Given the description of an element on the screen output the (x, y) to click on. 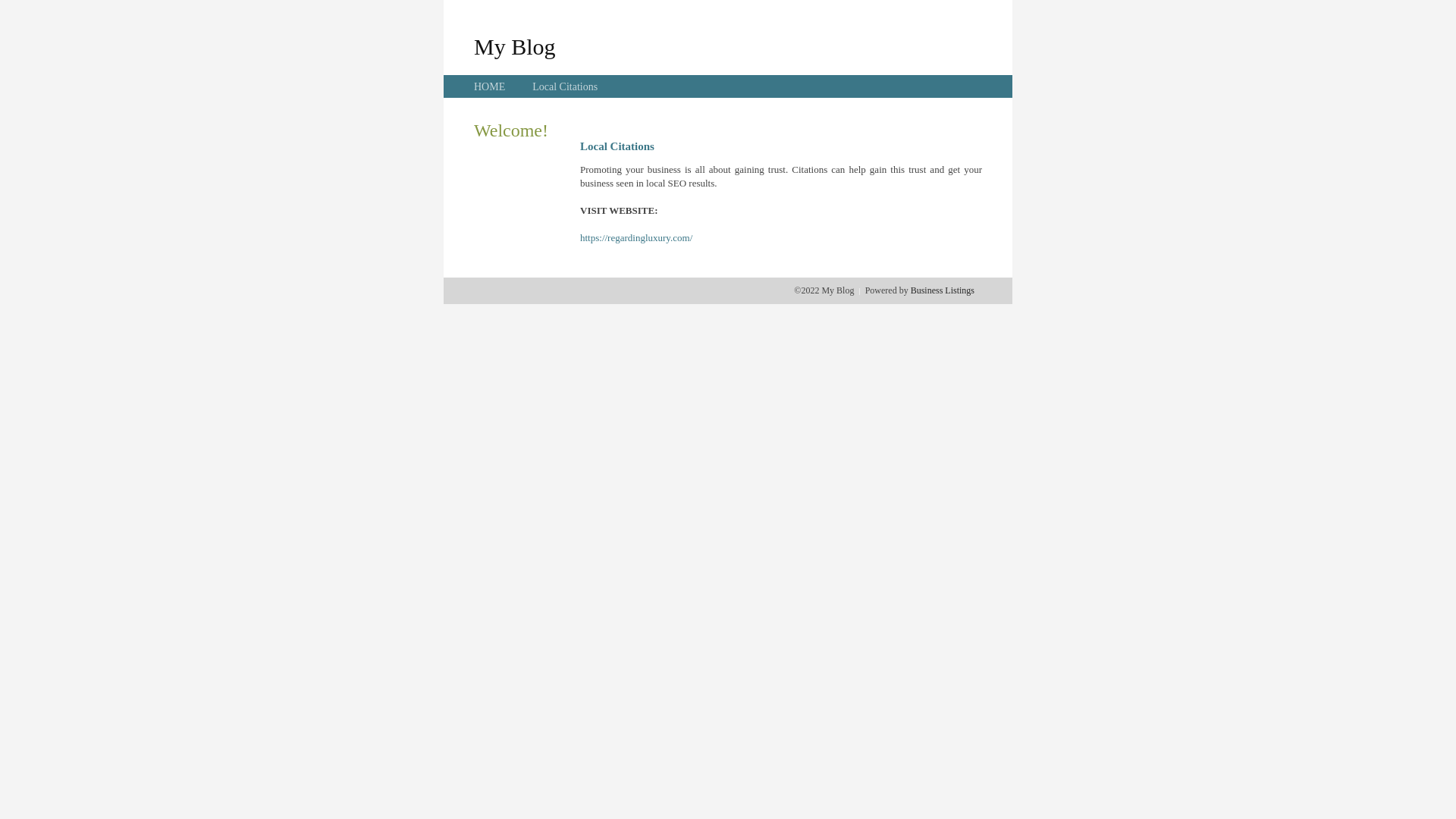
Local Citations Element type: text (564, 86)
https://regardingluxury.com/ Element type: text (636, 237)
HOME Element type: text (489, 86)
Business Listings Element type: text (942, 290)
My Blog Element type: text (514, 46)
